Given the description of an element on the screen output the (x, y) to click on. 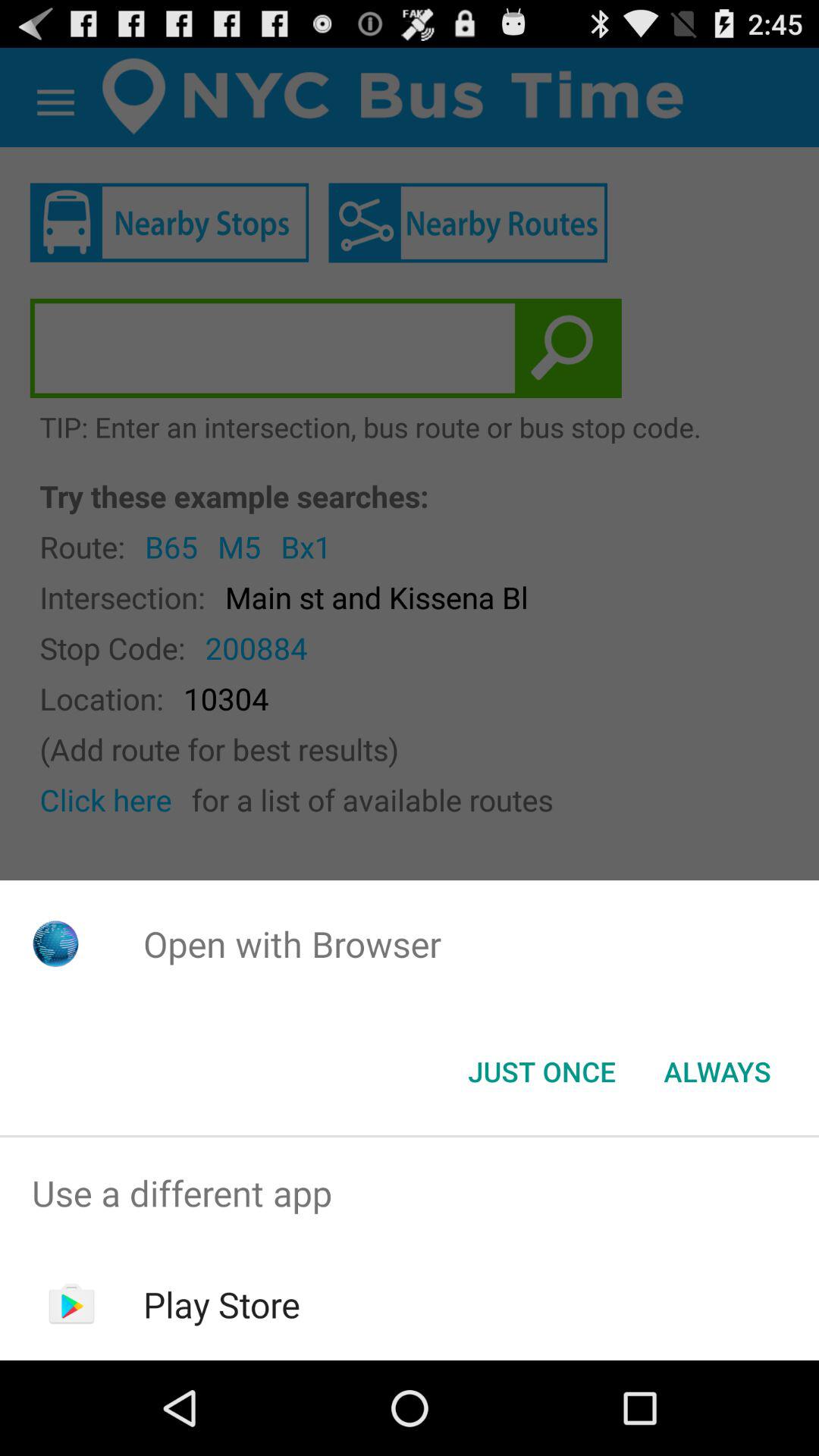
press use a different item (409, 1192)
